Given the description of an element on the screen output the (x, y) to click on. 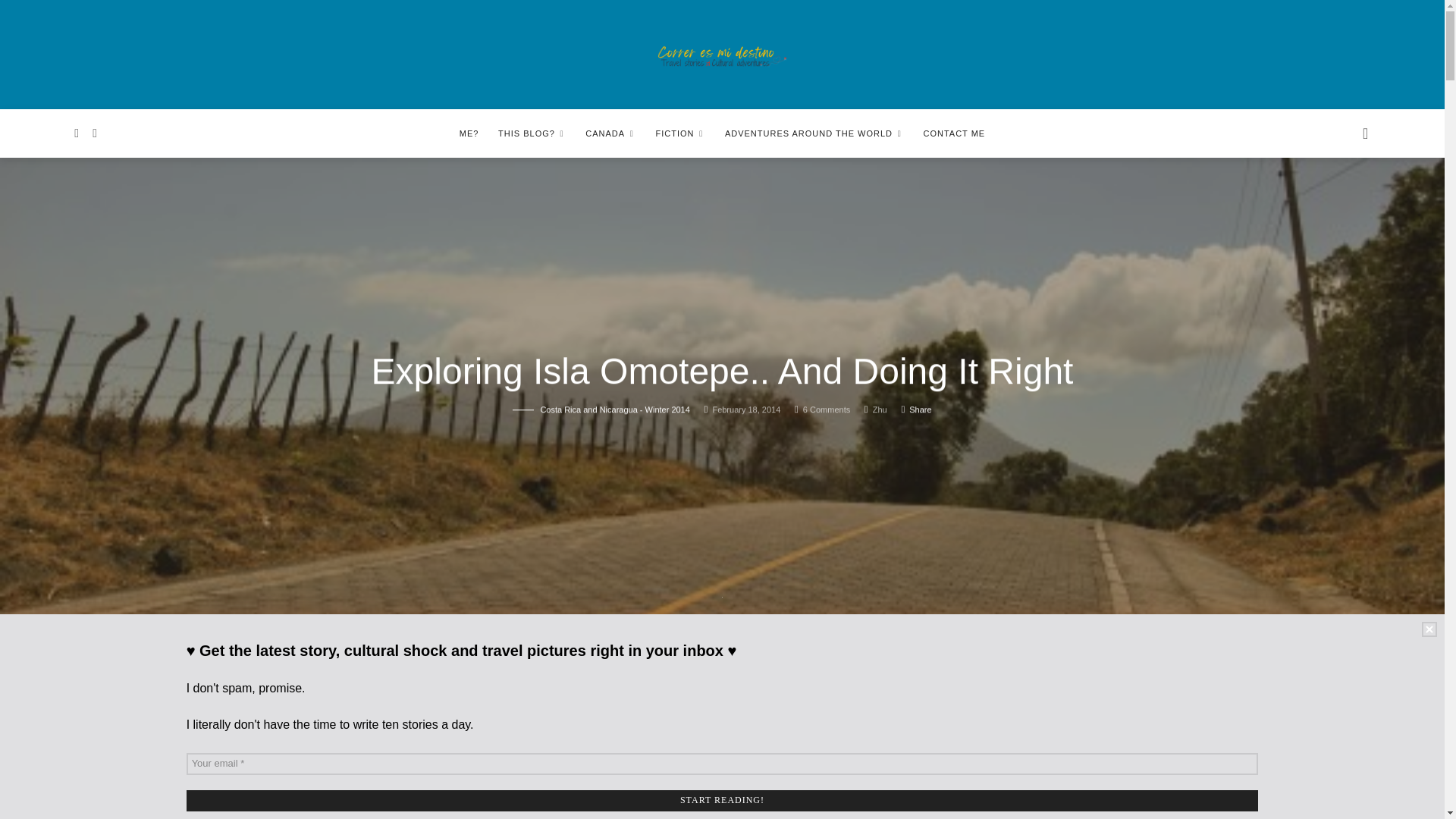
CANADA (610, 133)
Start reading! (722, 800)
FICTION (680, 133)
Correr Es Mi Destino (722, 56)
Your email (722, 763)
ADVENTURES AROUND THE WORLD (814, 133)
Where I Realize I Am Not Tour de France Material (524, 698)
THIS BLOG? (531, 133)
